Given the description of an element on the screen output the (x, y) to click on. 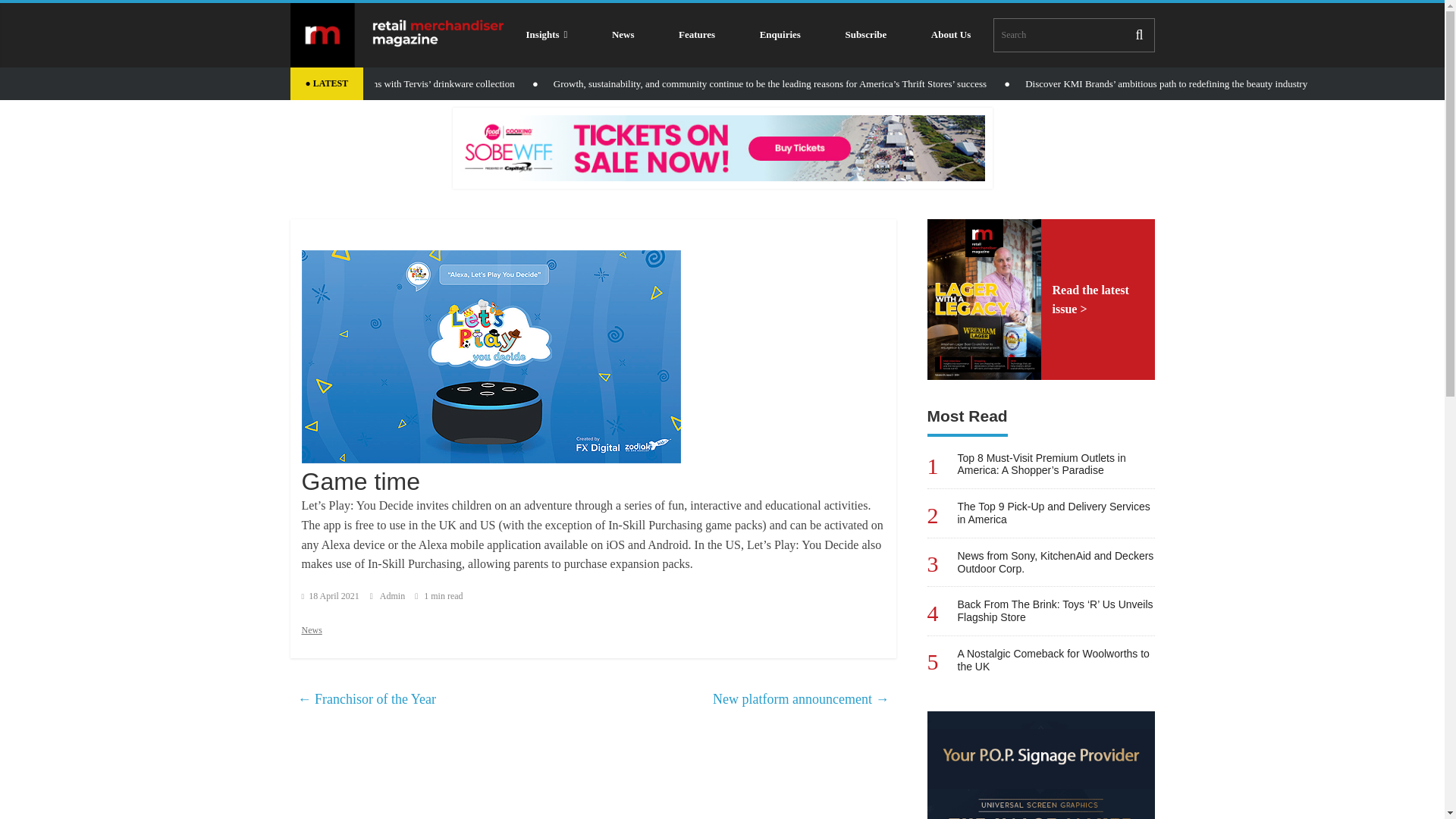
18 April 2021 (330, 595)
Admin (393, 595)
Enquiries (779, 35)
News (622, 35)
Insights (546, 35)
10:44 pm (330, 595)
Admin (393, 595)
Features (697, 35)
About Us (950, 35)
Retail Merchandiser (396, 35)
